Given the description of an element on the screen output the (x, y) to click on. 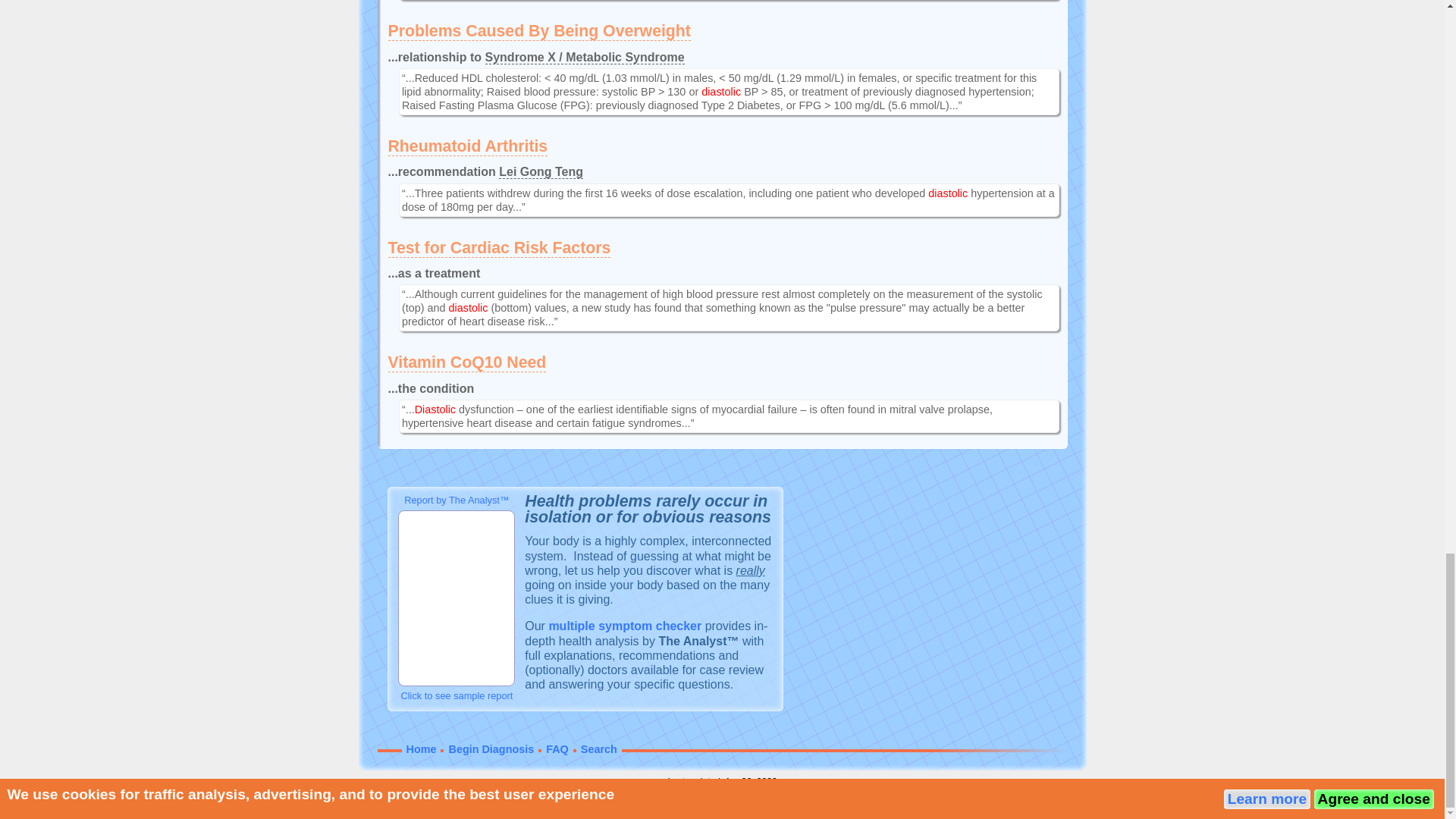
Problems Caused By Being Overweight (539, 31)
FAQ (557, 748)
Lei Gong Teng (541, 172)
Begin Symptom Entry (624, 625)
Home (421, 748)
Begin Diagnosis (491, 748)
multiple symptom checker (624, 625)
Rheumatoid Arthritis (468, 146)
Test for Cardiac Risk Factors (499, 248)
Search (598, 748)
